Given the description of an element on the screen output the (x, y) to click on. 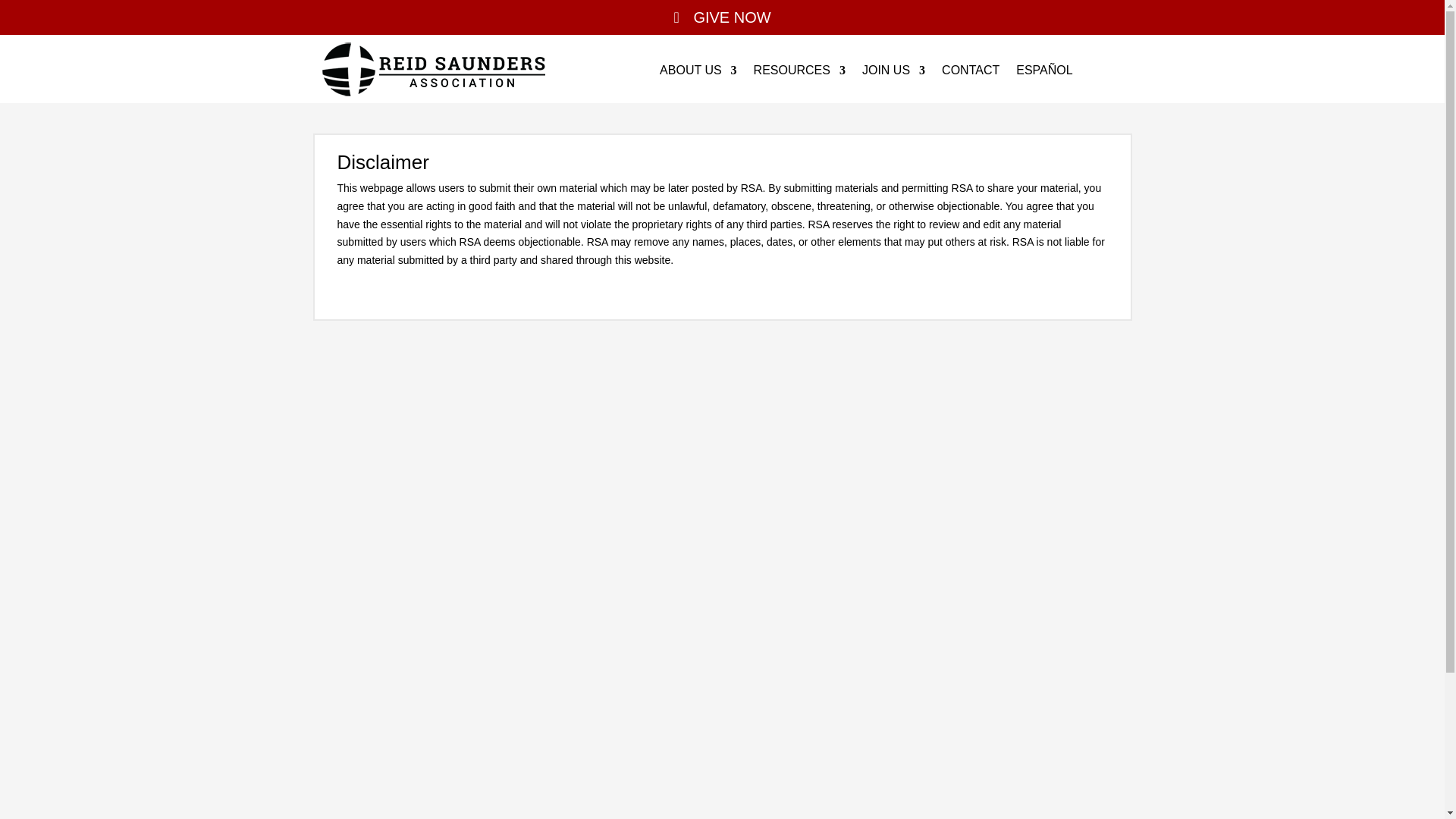
GIVE NOW (721, 17)
RESOURCES (799, 73)
JOIN US (892, 73)
CONTACT (970, 73)
RSA Logo (434, 68)
ABOUT US (697, 73)
